Given the description of an element on the screen output the (x, y) to click on. 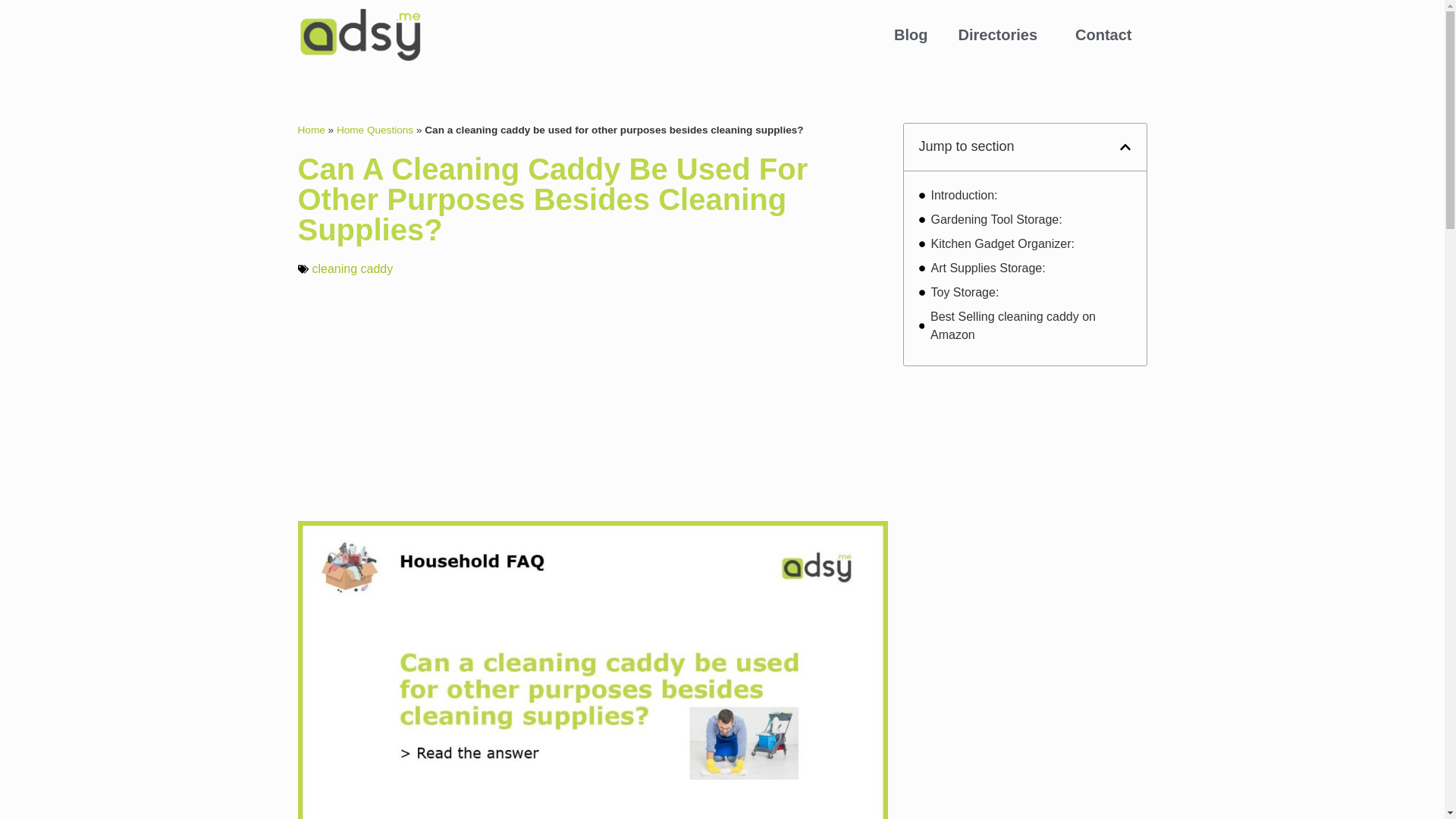
Blog (910, 34)
Advertisement (1024, 475)
Advertisement (1024, 702)
Advertisement (591, 399)
Directories (1002, 34)
Contact (1103, 34)
